Given the description of an element on the screen output the (x, y) to click on. 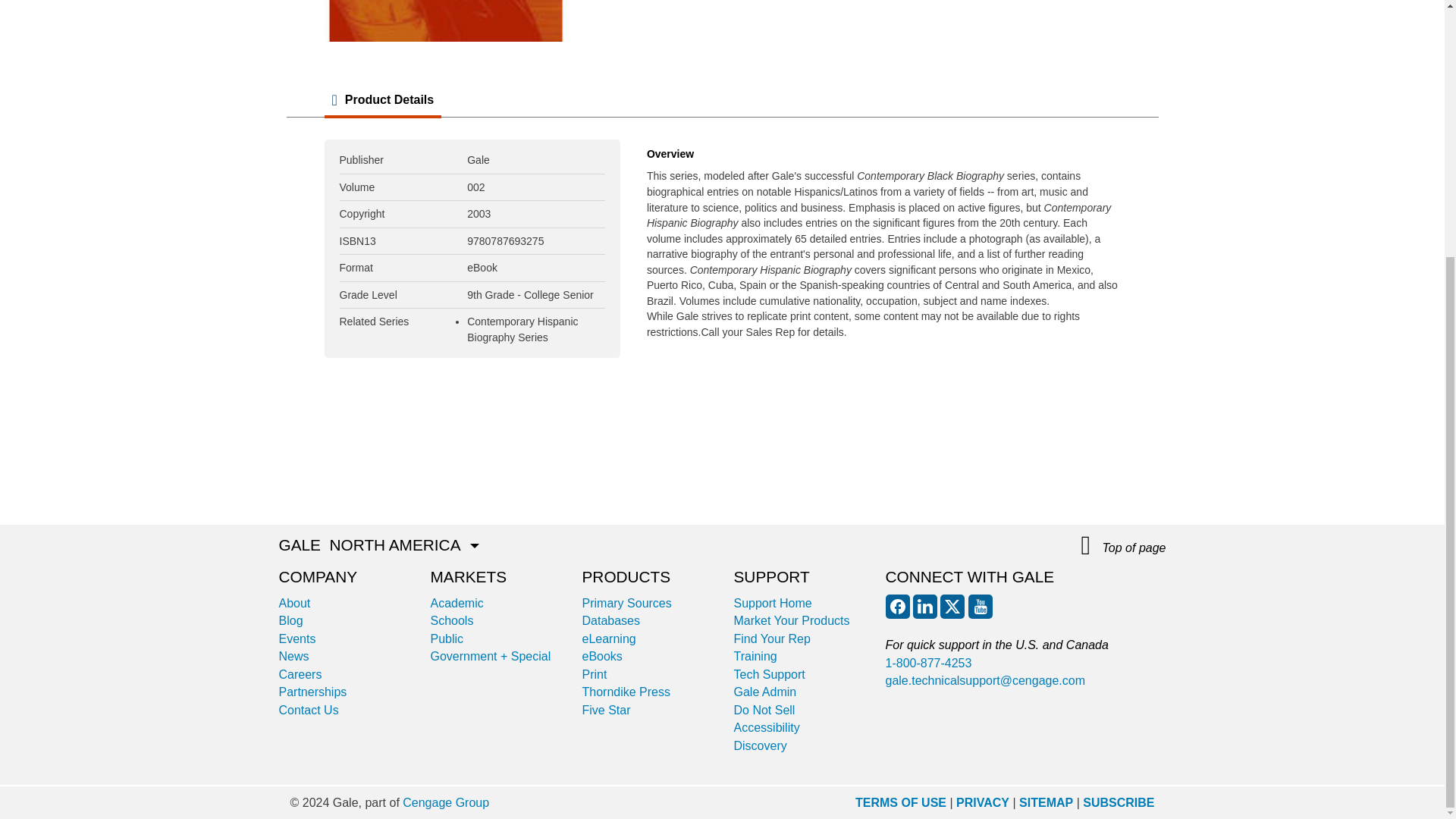
Top of page (1123, 545)
Top of page (1123, 545)
